Given the description of an element on the screen output the (x, y) to click on. 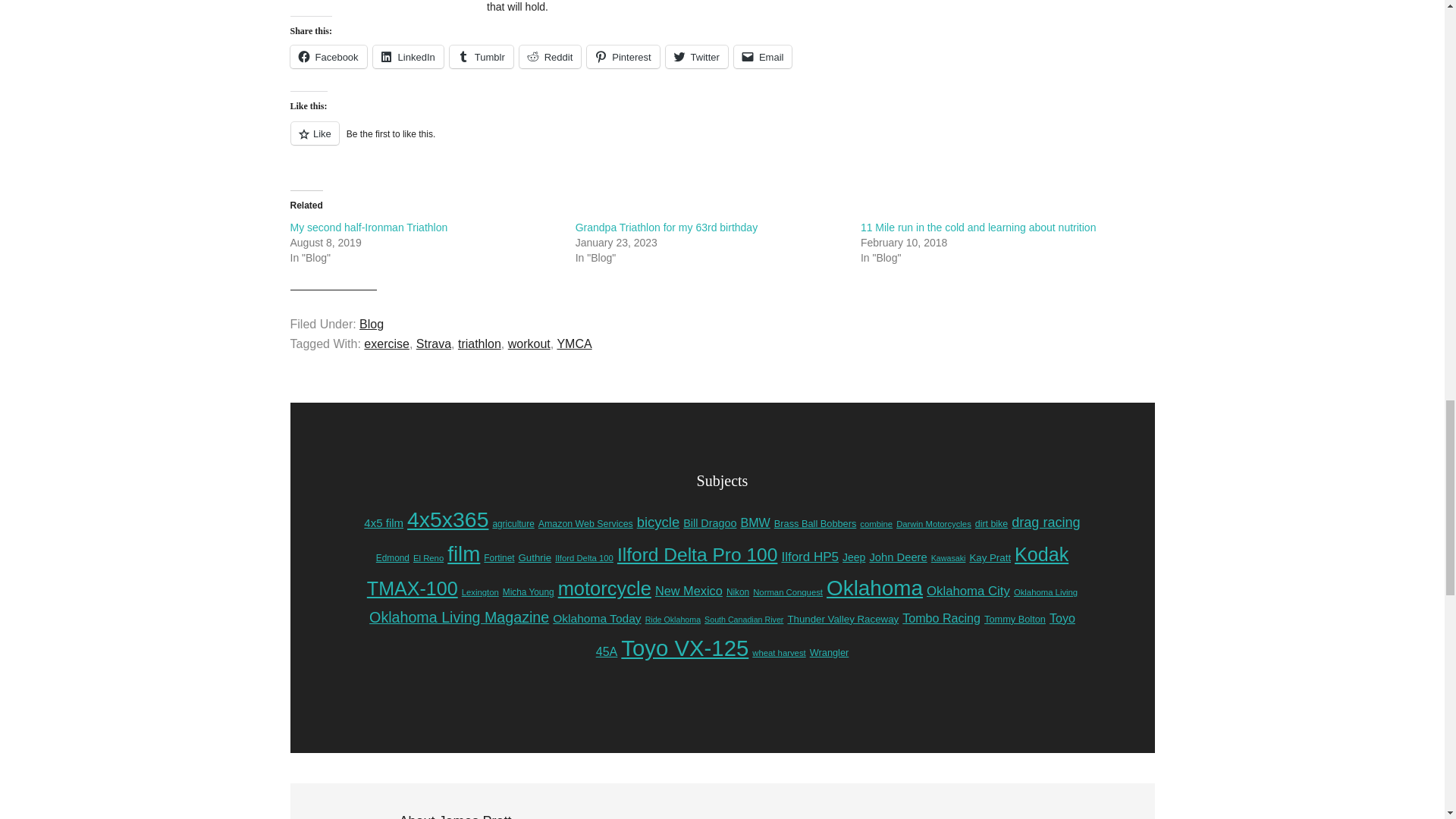
Grandpa Triathlon for my 63rd birthday (666, 227)
Click to share on LinkedIn (408, 56)
Click to share on Pinterest (622, 56)
Click to email a link to a friend (762, 56)
Click to share on Twitter (696, 56)
Like or Reblog (721, 141)
Tumblr (481, 56)
Click to share on Tumblr (481, 56)
Click to share on Reddit (549, 56)
Click to share on Facebook (327, 56)
Facebook (327, 56)
LinkedIn (408, 56)
11 Mile run in the cold and learning about nutrition (978, 227)
My second half-Ironman Triathlon (367, 227)
